Given the description of an element on the screen output the (x, y) to click on. 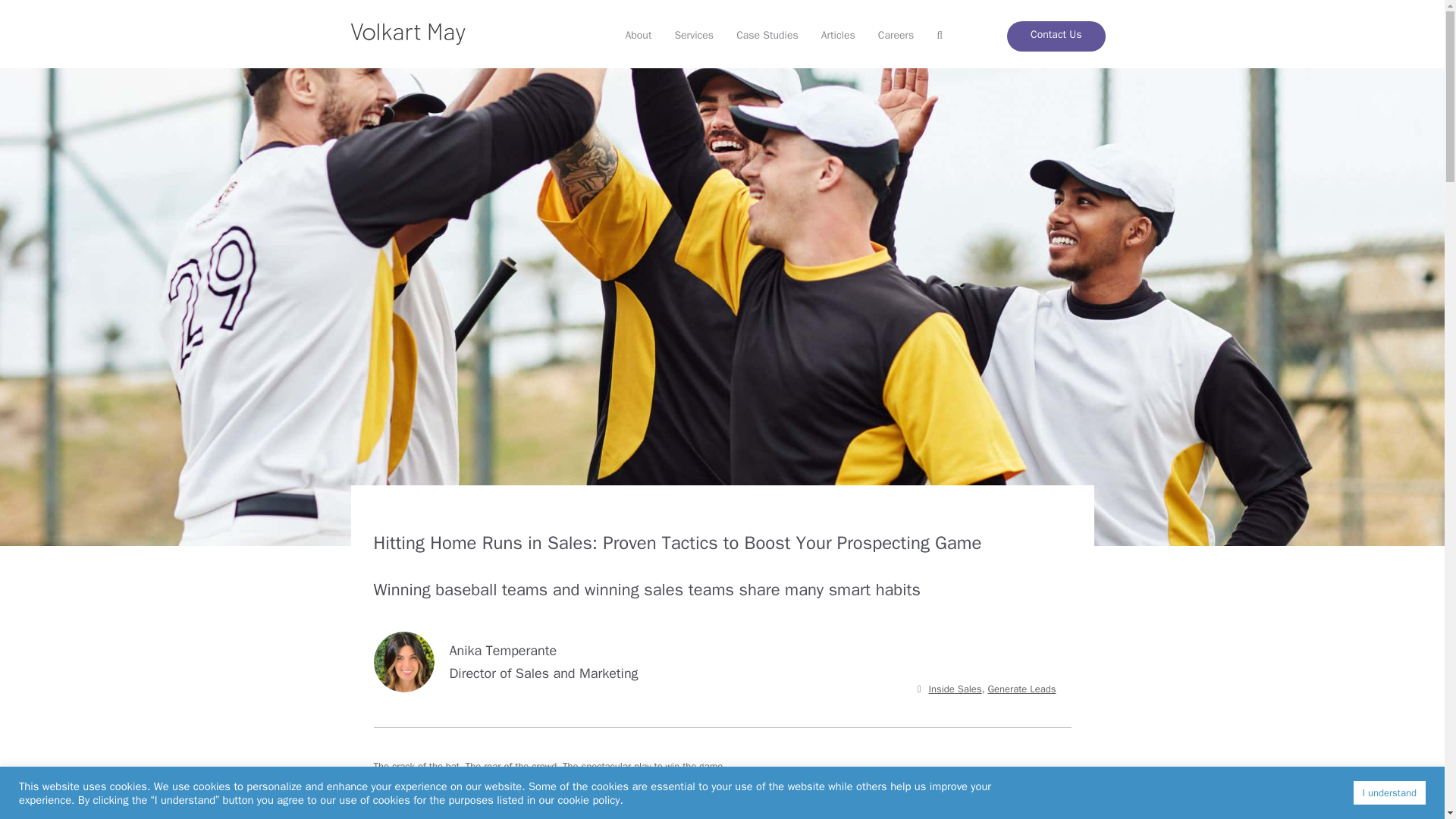
Articles (837, 35)
About (637, 35)
Careers (896, 35)
Contact Us (1056, 36)
Case Studies (767, 35)
Inside Sales (954, 688)
Services (693, 35)
Generate Leads (1021, 688)
